Given the description of an element on the screen output the (x, y) to click on. 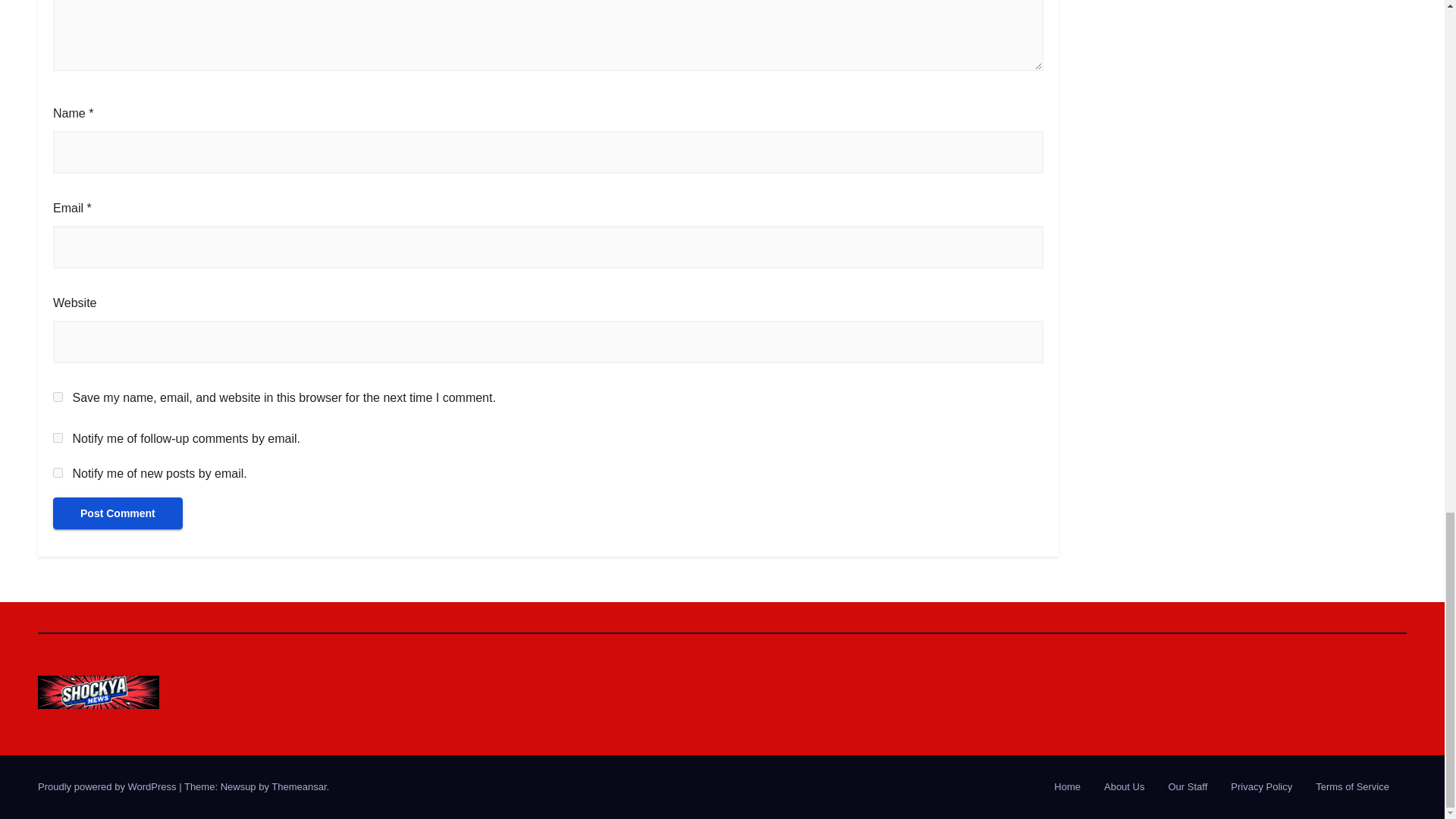
subscribe (57, 472)
Post Comment (117, 513)
subscribe (57, 438)
Post Comment (117, 513)
Home (1067, 786)
yes (57, 397)
